Given the description of an element on the screen output the (x, y) to click on. 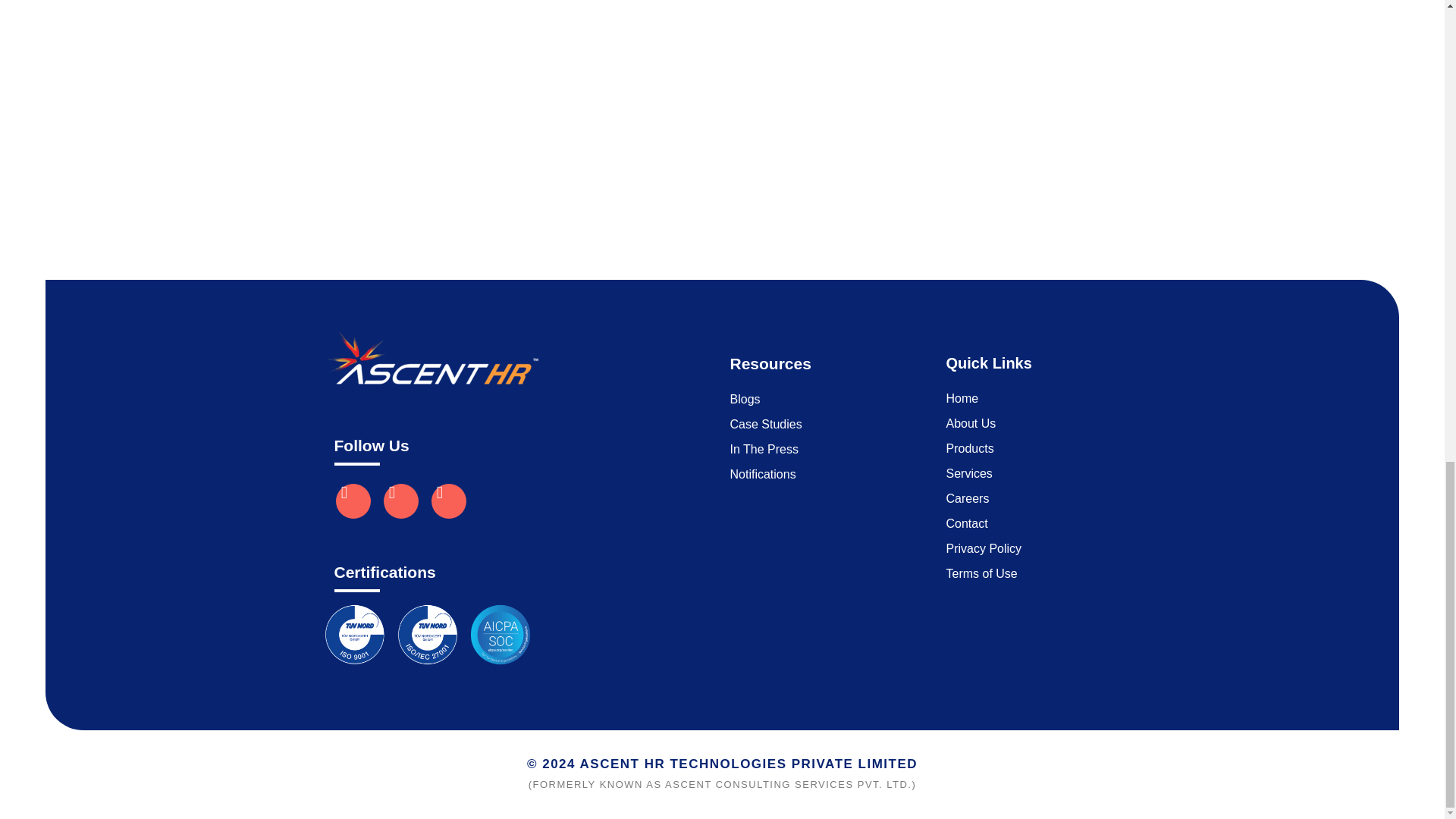
Link to our Twitter page (447, 501)
Link to our Facebook page (401, 501)
Link to our Linkedin page (351, 501)
